Given the description of an element on the screen output the (x, y) to click on. 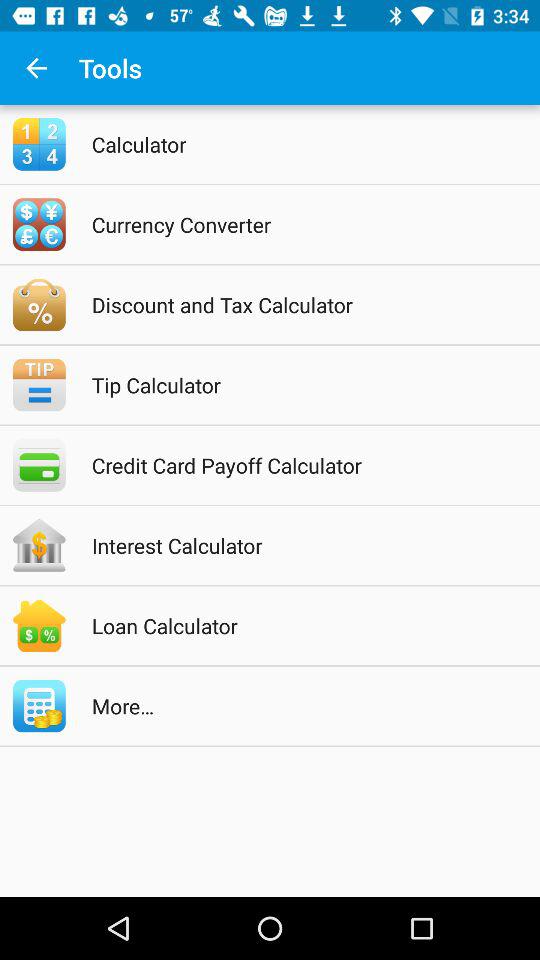
flip until tip calculator (295, 384)
